Given the description of an element on the screen output the (x, y) to click on. 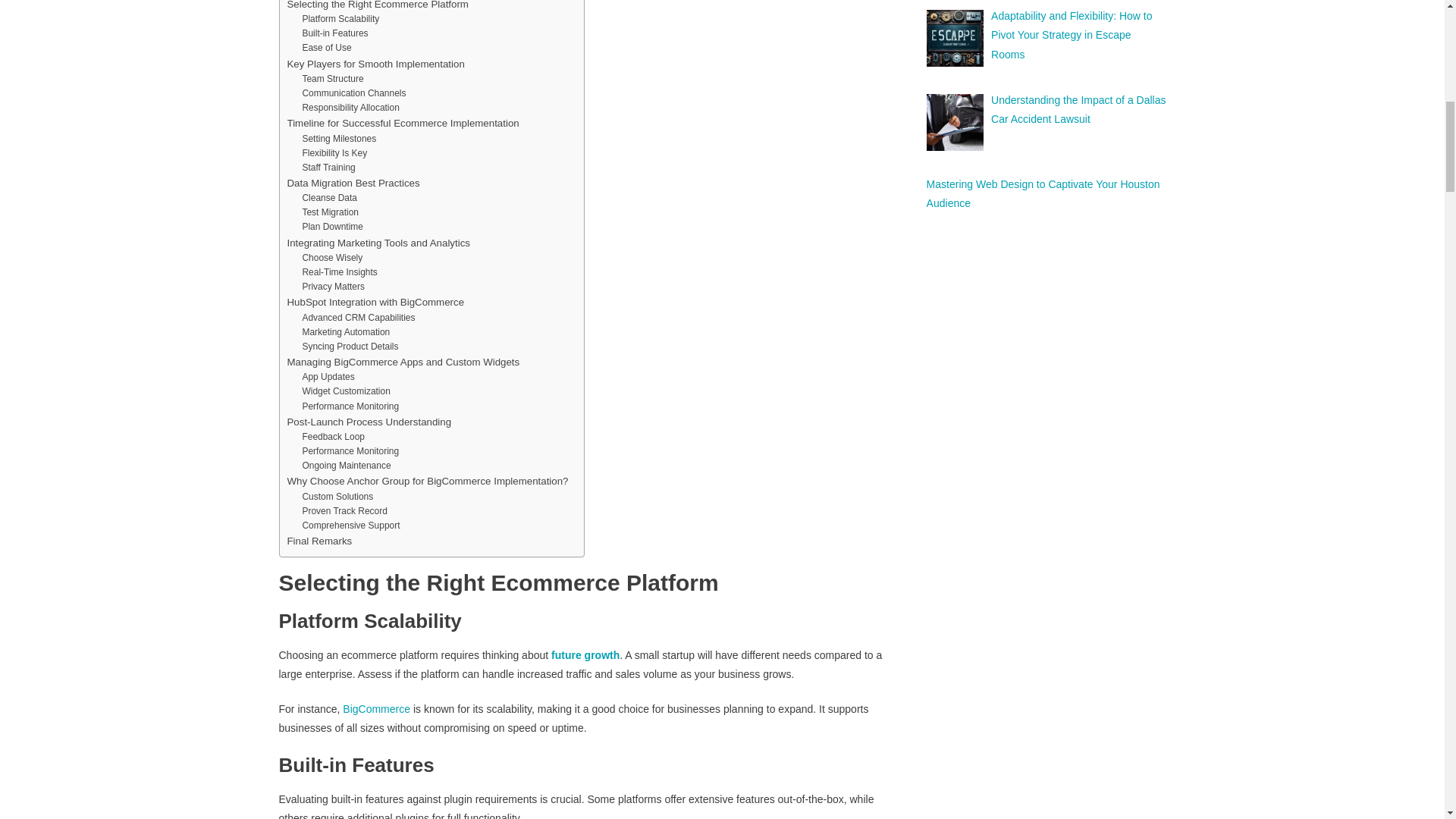
Platform Scalability (339, 19)
Plan Downtime (331, 227)
Key Players for Smooth Implementation (375, 64)
Ease of Use (325, 47)
Team Structure (331, 79)
Timeline for Successful Ecommerce Implementation (402, 123)
Timeline for Successful Ecommerce Implementation (402, 123)
Communication Channels (353, 93)
Data Migration Best Practices (352, 182)
Team Structure (331, 79)
Staff Training (328, 167)
Built-in Features (334, 33)
Platform Scalability (339, 19)
Setting Milestones (338, 138)
Key Players for Smooth Implementation (375, 64)
